Given the description of an element on the screen output the (x, y) to click on. 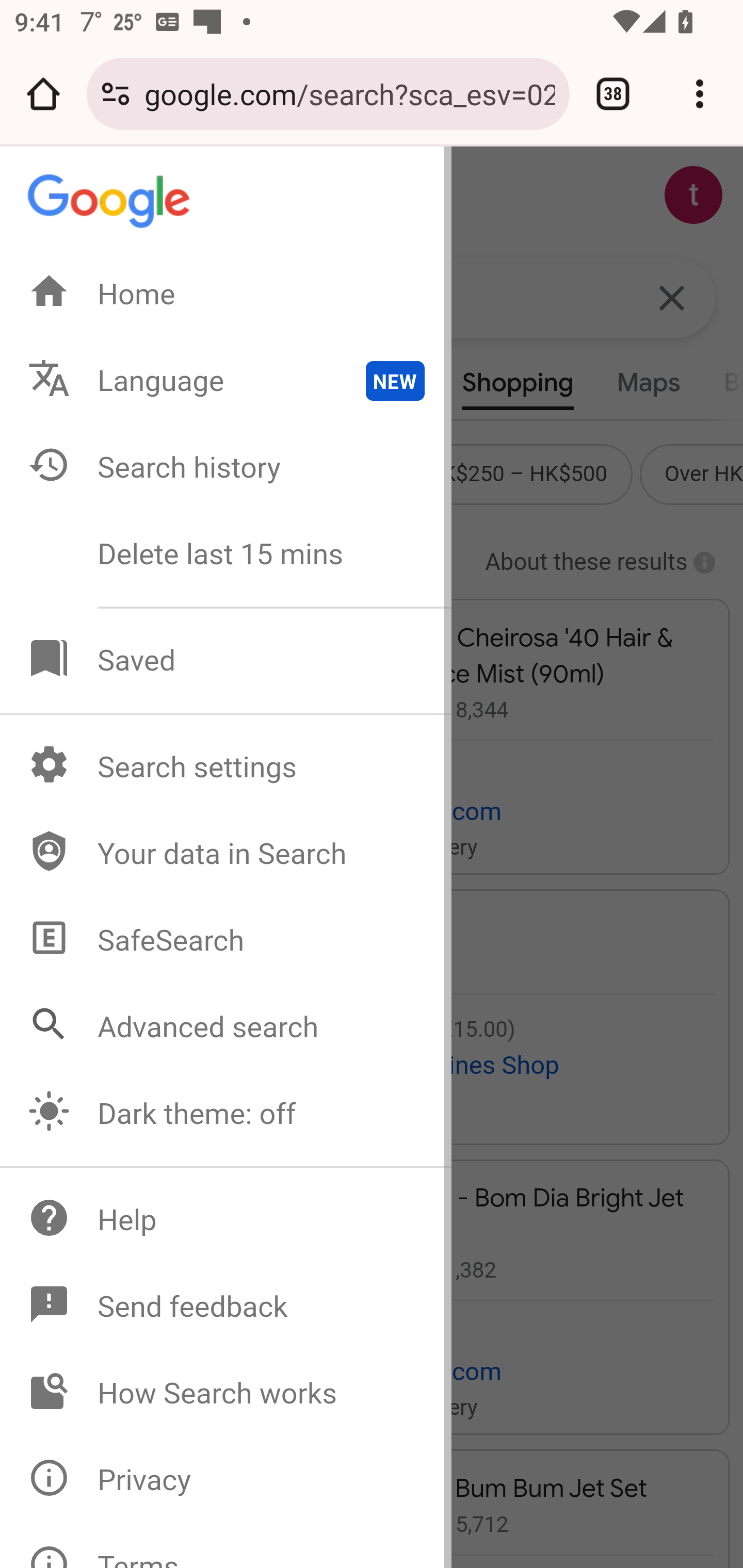
Open the home page (43, 93)
Connection is secure (115, 93)
Switch or close tabs (612, 93)
Customize and control Google Chrome (699, 93)
Close the drawer (109, 203)
Home (226, 293)
Language NEW (226, 380)
Search history (226, 466)
Delete last 15 mins (226, 553)
Saved (226, 660)
Search settings (226, 767)
Your data in Search (226, 853)
SafeSearch (226, 940)
Advanced search (226, 1026)
Dark theme: off Dark theme: off Dark theme: off (226, 1113)
Help (226, 1220)
Send feedback (226, 1306)
How Search works (226, 1393)
Privacy (226, 1480)
